Given the description of an element on the screen output the (x, y) to click on. 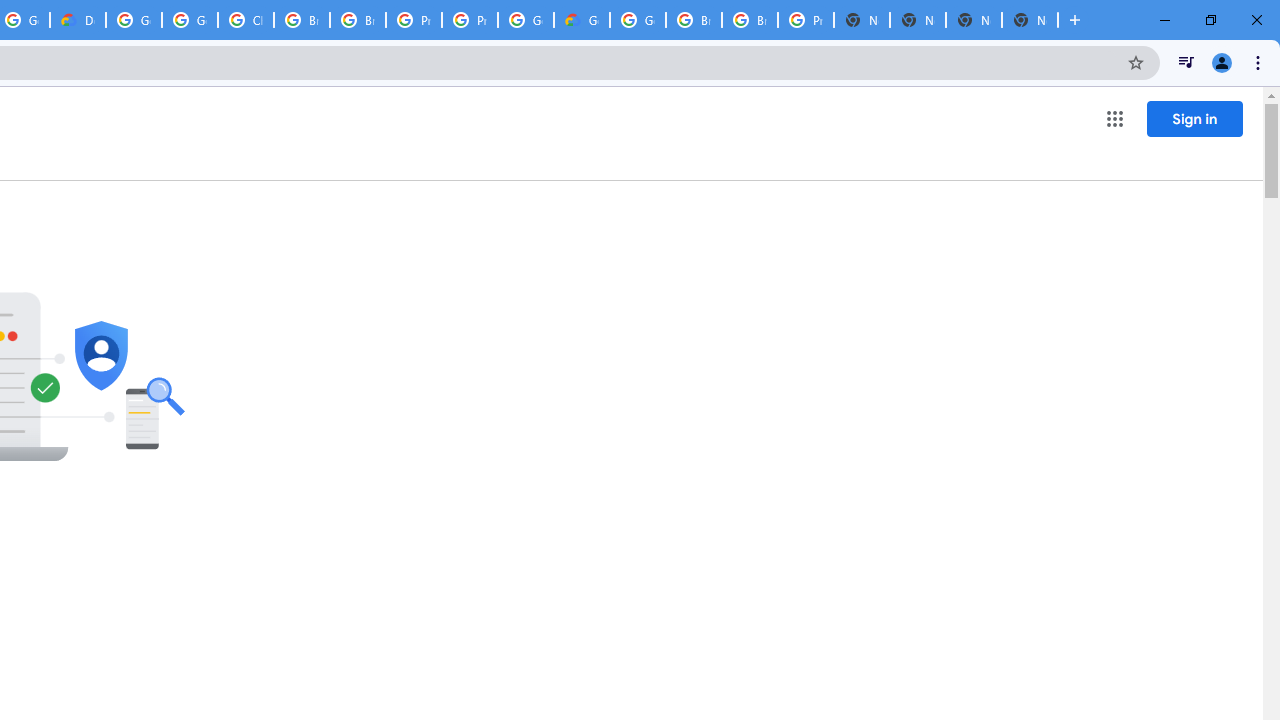
Google Cloud Platform (134, 20)
New Tab (1030, 20)
